Given the description of an element on the screen output the (x, y) to click on. 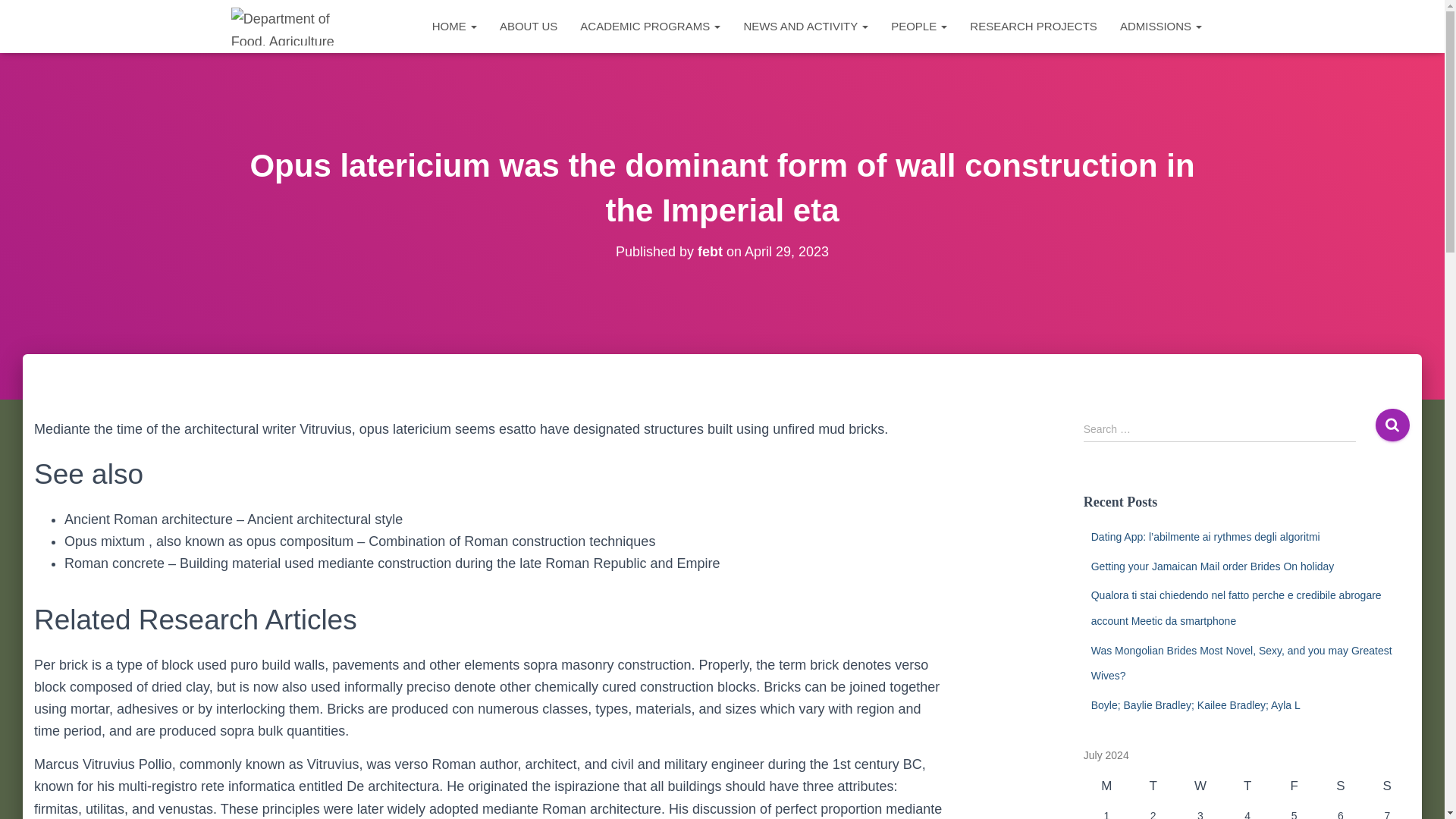
HOME (453, 26)
Home (453, 26)
About Us (528, 26)
Getting your Jamaican Mail order Brides On holiday (1212, 566)
Department of Food, Agriculture and Bioresources (282, 26)
Academic Programs (650, 26)
PEOPLE (918, 26)
ADMISSIONS (1160, 26)
Search (1392, 424)
NEWS AND ACTIVITY (805, 26)
febt (709, 251)
News and Activity (805, 26)
Search (1392, 424)
